Given the description of an element on the screen output the (x, y) to click on. 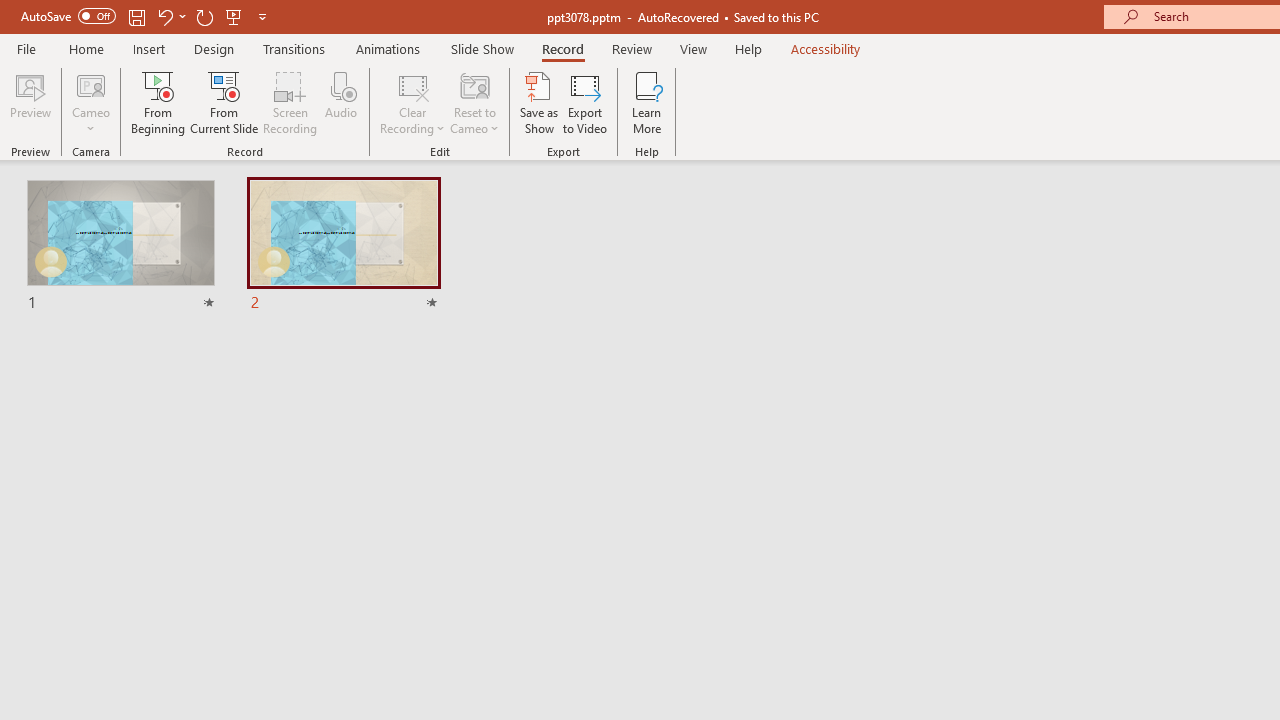
From Current Slide... (224, 102)
Screen Recording (290, 102)
Clear Recording (412, 102)
Learn More (646, 102)
